Given the description of an element on the screen output the (x, y) to click on. 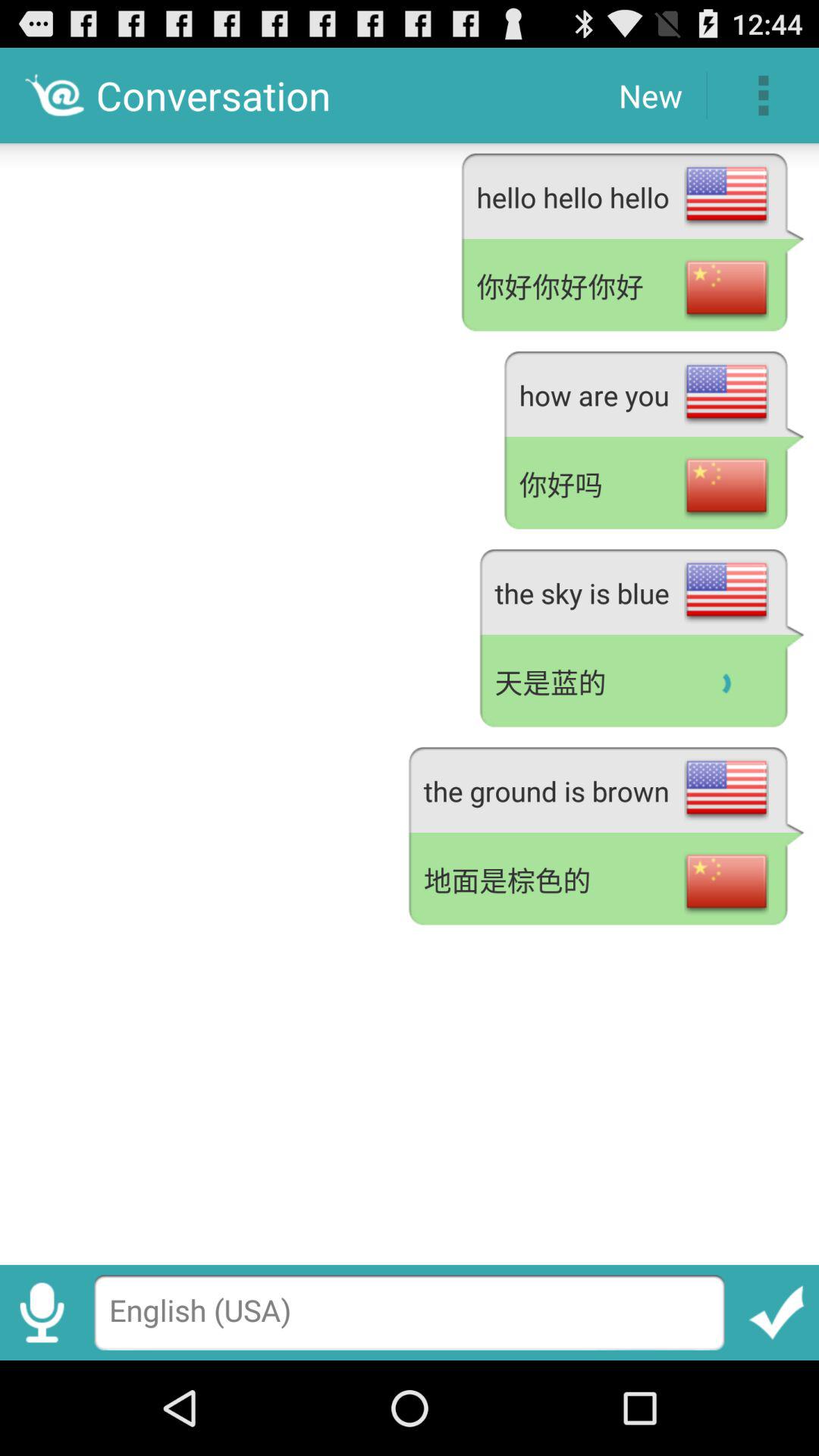
select app above the hello hello hello item (763, 95)
